Given the description of an element on the screen output the (x, y) to click on. 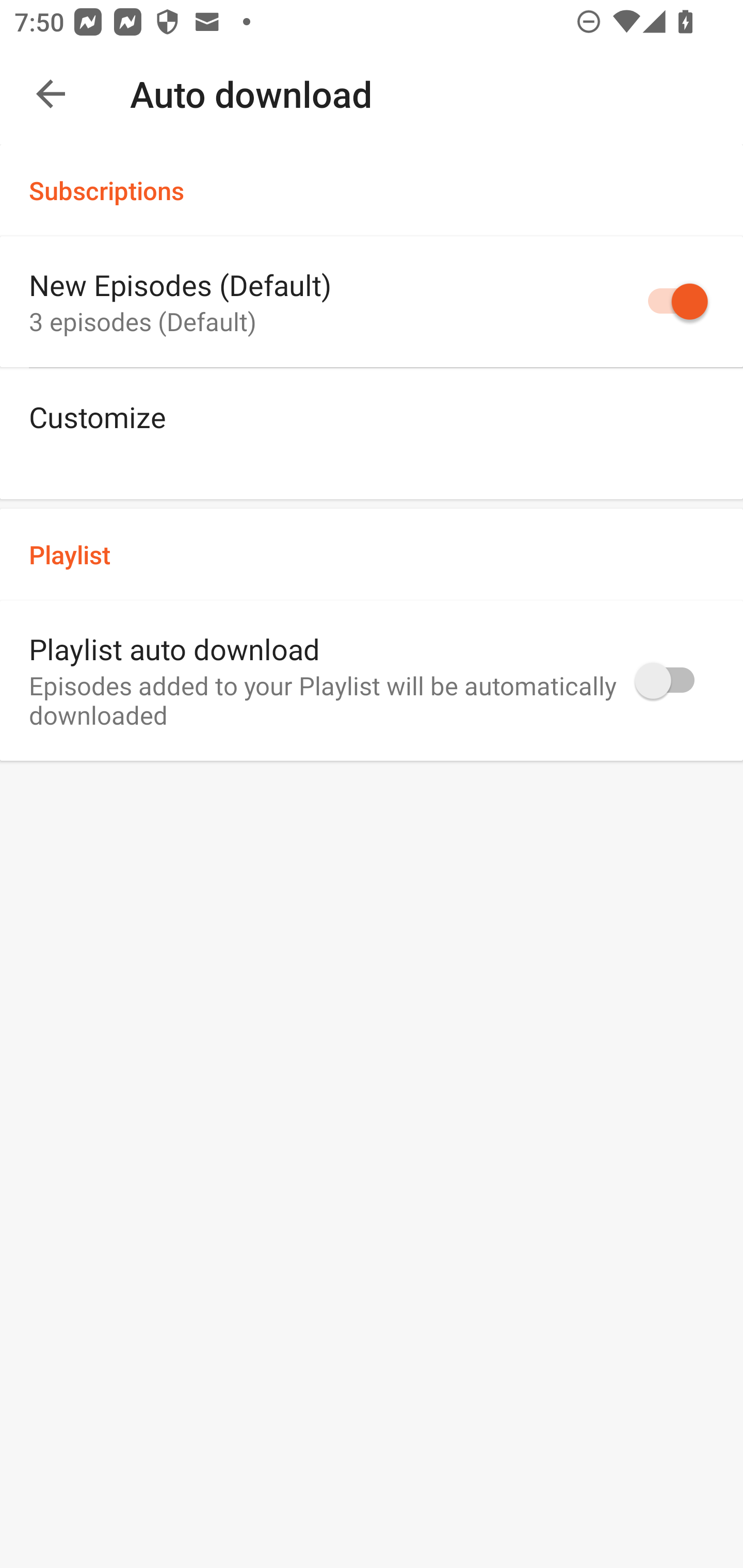
Navigate up (50, 93)
New Episodes (Default) 3 episodes (Default) (371, 301)
Customize (371, 433)
